Given the description of an element on the screen output the (x, y) to click on. 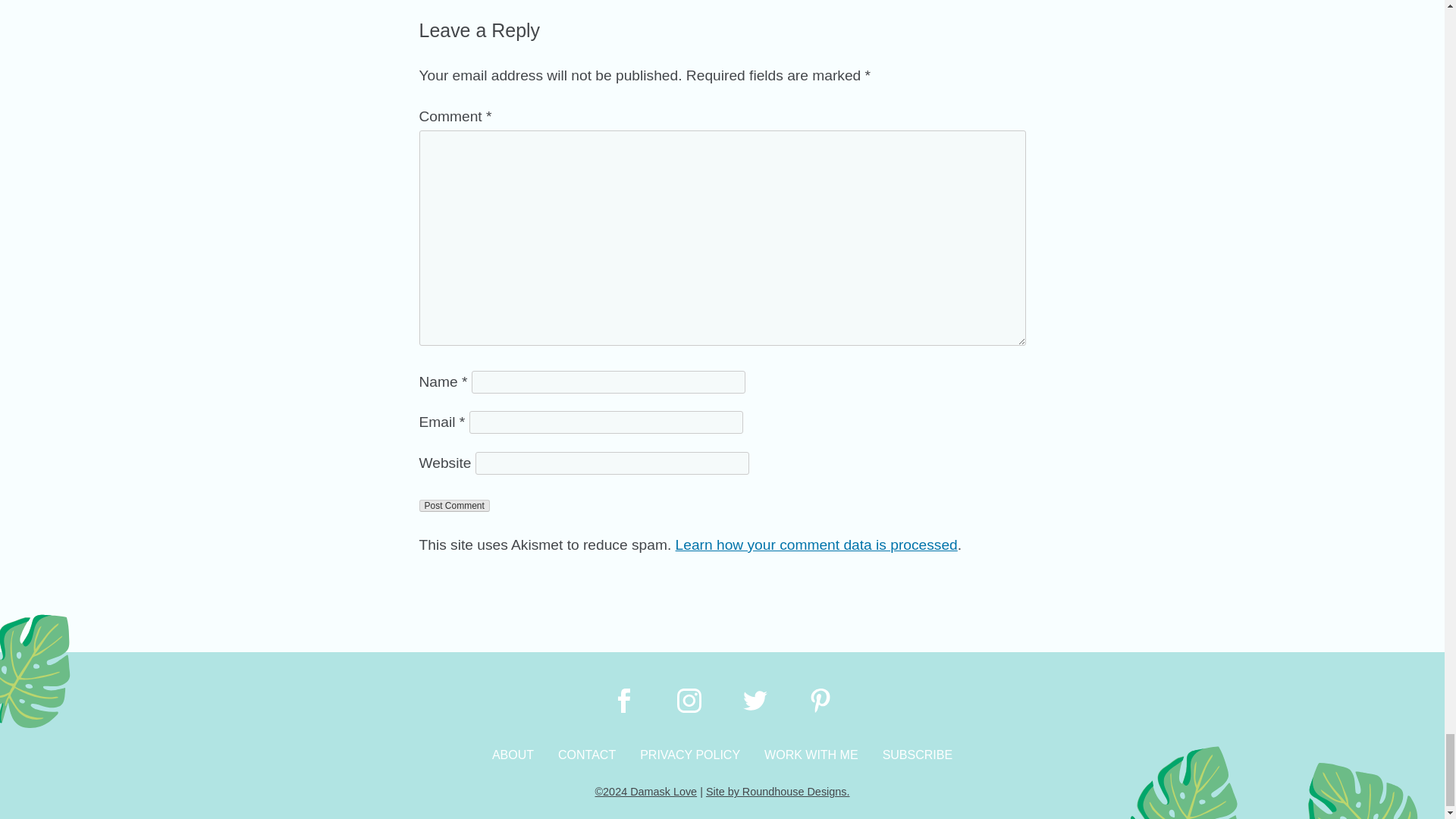
Post Comment (454, 505)
